Given the description of an element on the screen output the (x, y) to click on. 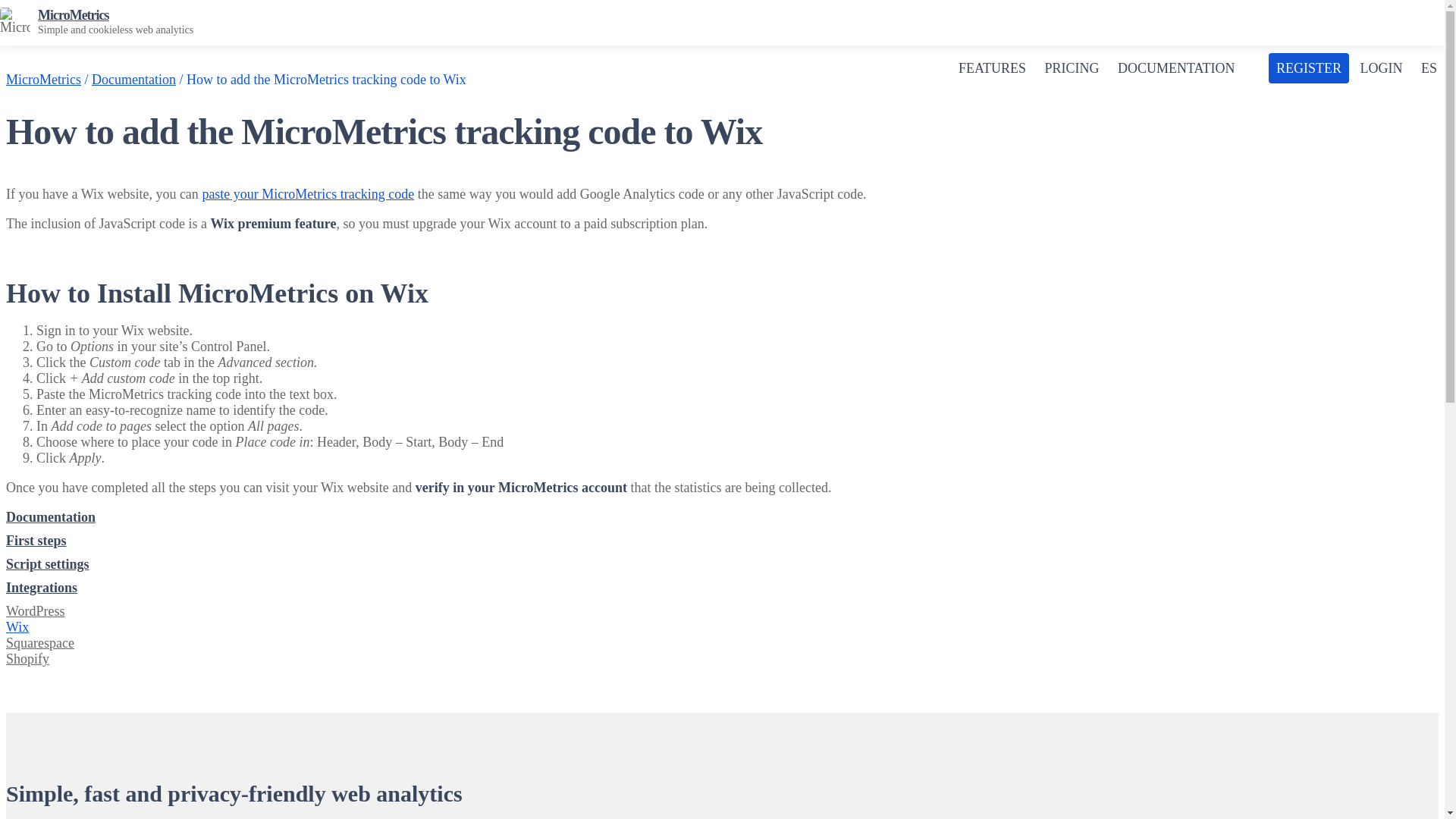
Start your free MicroMetrics trial today (1308, 68)
Access your MicroMetrics account (1380, 67)
DOCUMENTATION (1176, 67)
REGISTER (1308, 68)
Squarespace (39, 642)
FEATURES (991, 67)
MicroMetrics (43, 79)
Wix (17, 626)
WordPress (35, 611)
